Given the description of an element on the screen output the (x, y) to click on. 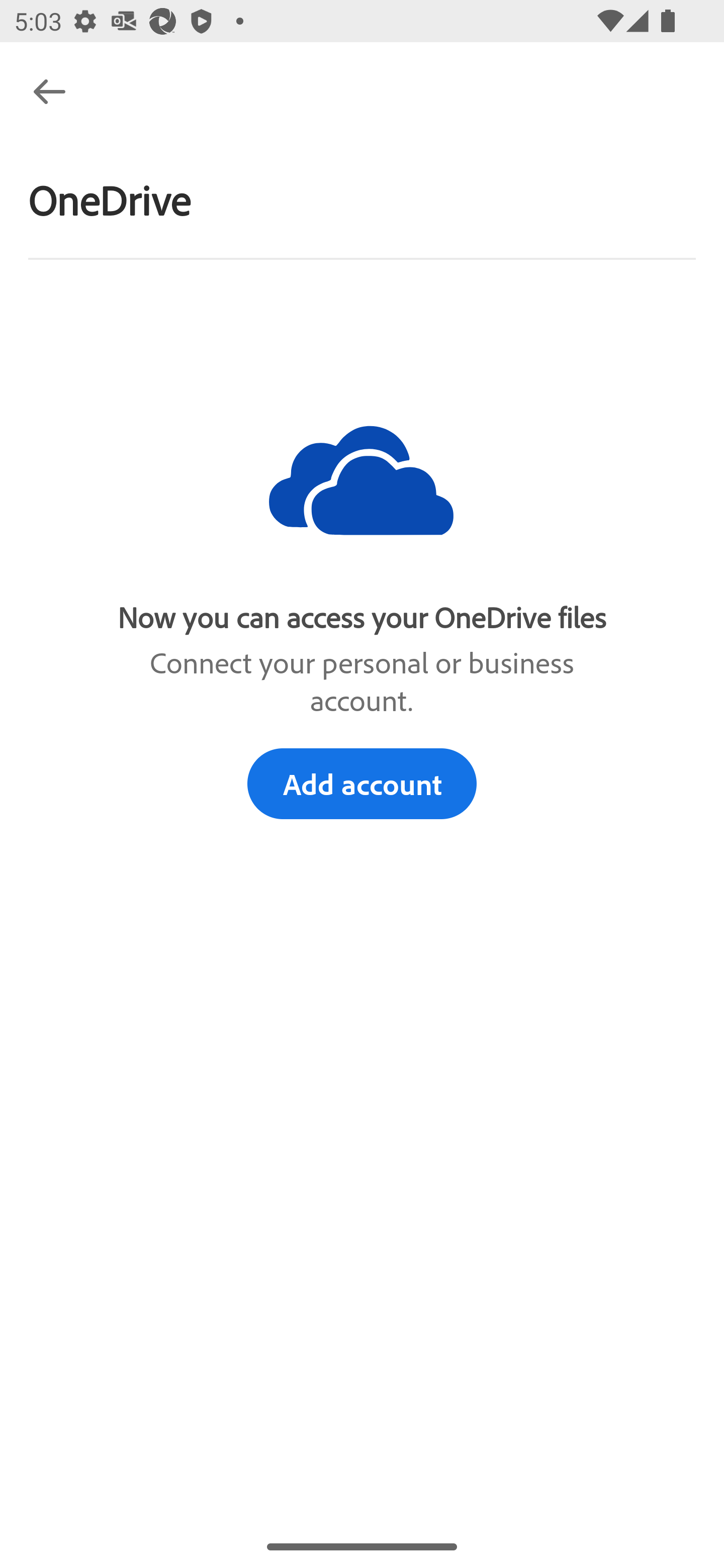
Navigate up (49, 91)
Add account (361, 783)
